Given the description of an element on the screen output the (x, y) to click on. 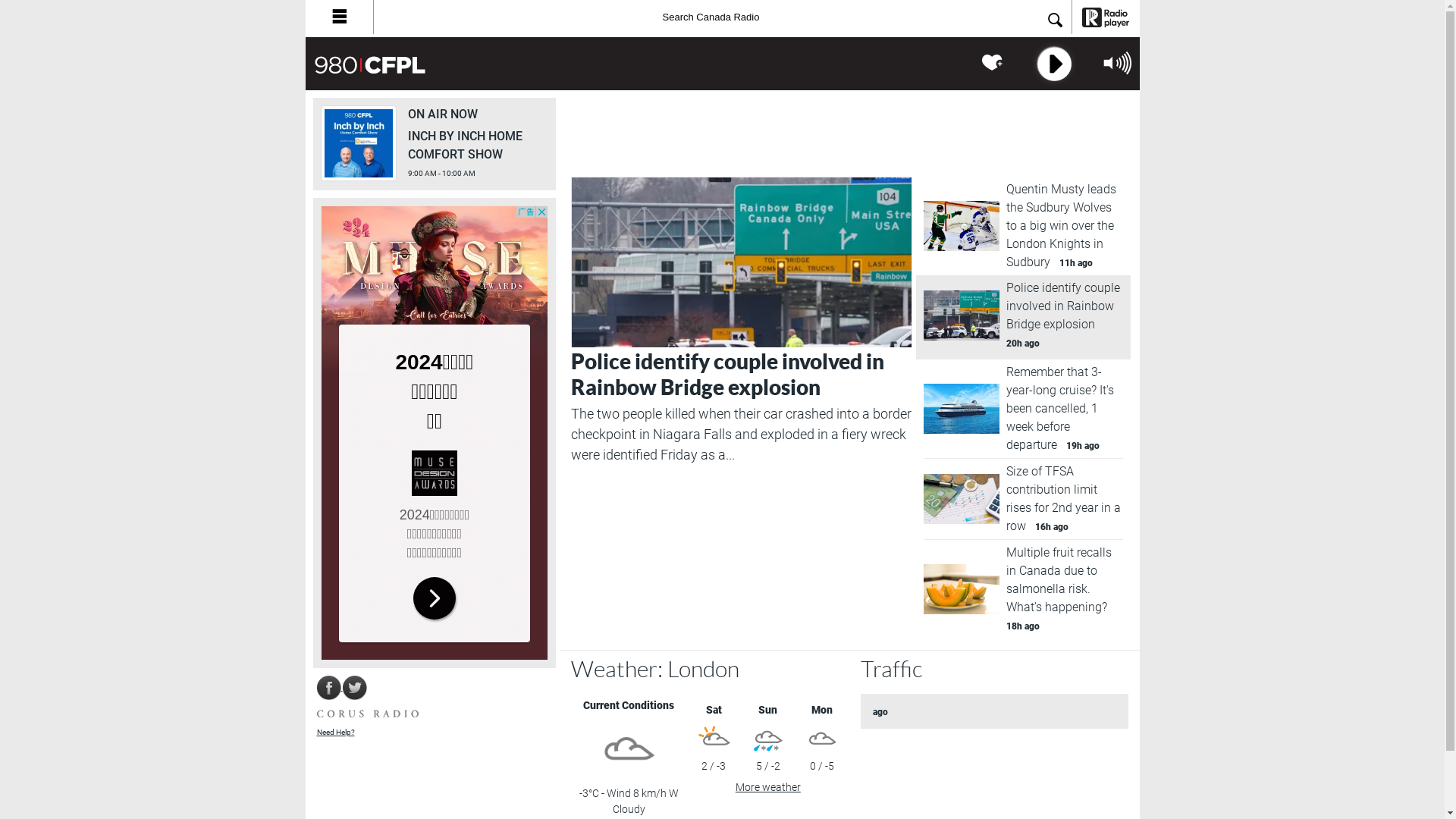
Police identify couple involved in Rainbow Bridge explosion Element type: text (726, 373)
Set volume to 20% Element type: text (1108, 88)
Play Element type: text (1051, 64)
Need Help? Element type: text (335, 732)
Open Radioplayer Menu Element type: text (338, 17)
Toggle this station in My Stations Element type: text (992, 62)
3rd party ad content Element type: hover (433, 432)
More weather Element type: text (767, 787)
Search Element type: text (1054, 21)
